Given the description of an element on the screen output the (x, y) to click on. 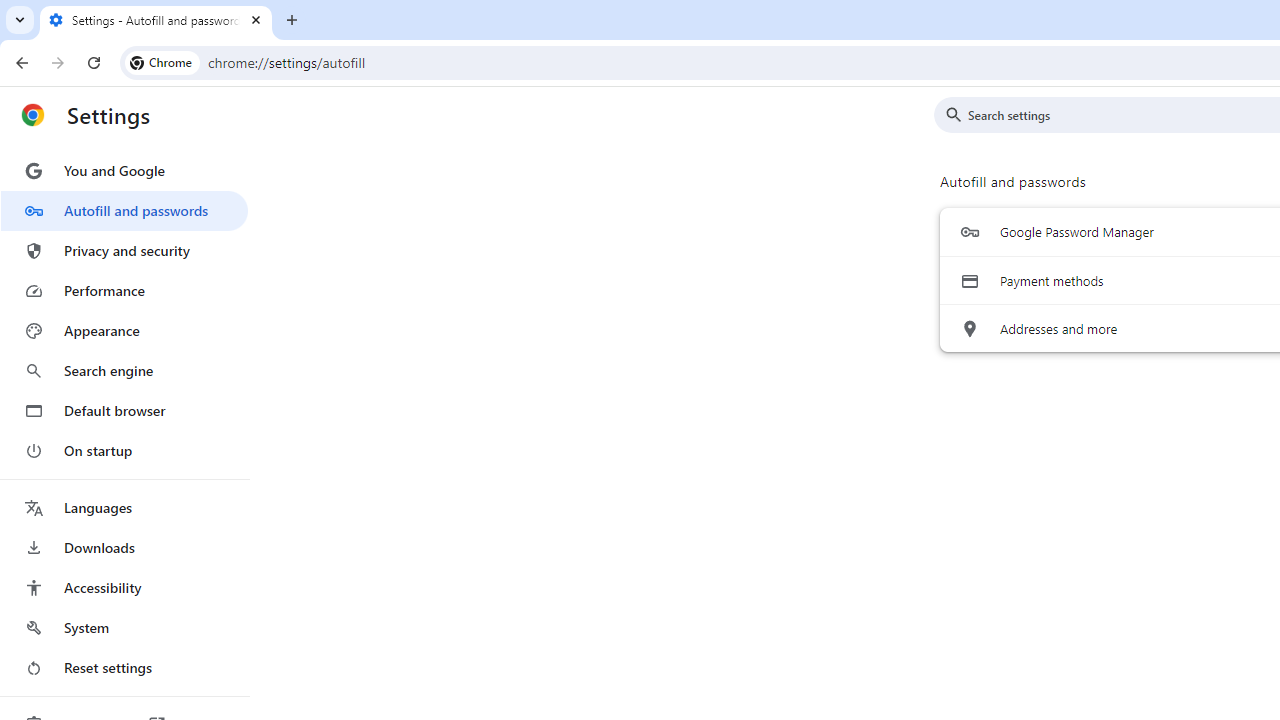
You and Google (124, 170)
Autofill and passwords (124, 210)
Settings - Autofill and passwords (156, 20)
Reset settings (124, 668)
Privacy and security (124, 250)
Downloads (124, 547)
Accessibility (124, 587)
Performance (124, 290)
Languages (124, 507)
